Given the description of an element on the screen output the (x, y) to click on. 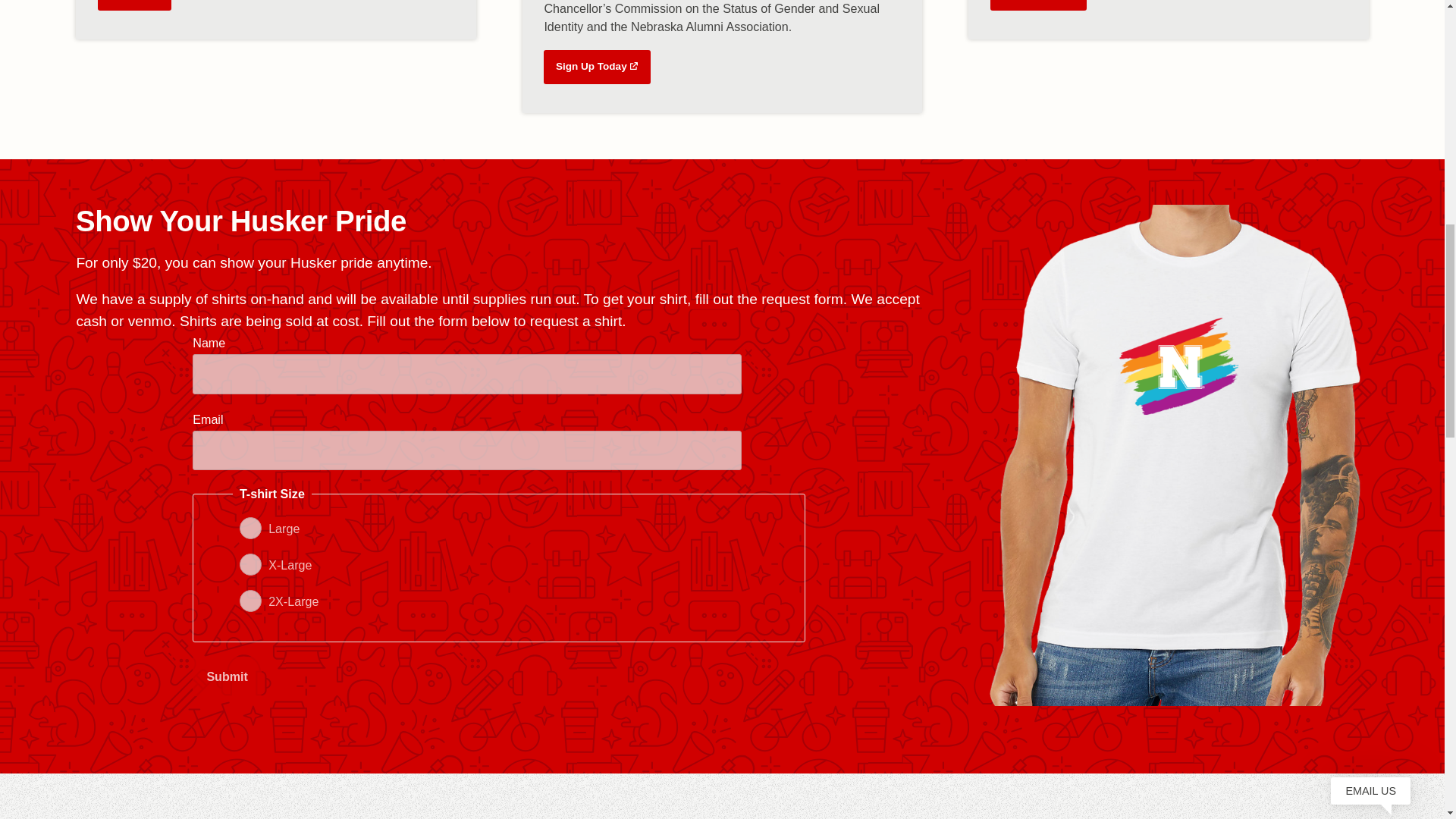
Subscribe (134, 5)
Submit (227, 676)
Apply Today (1038, 5)
Submit (227, 676)
Sign Up Today (596, 66)
